Given the description of an element on the screen output the (x, y) to click on. 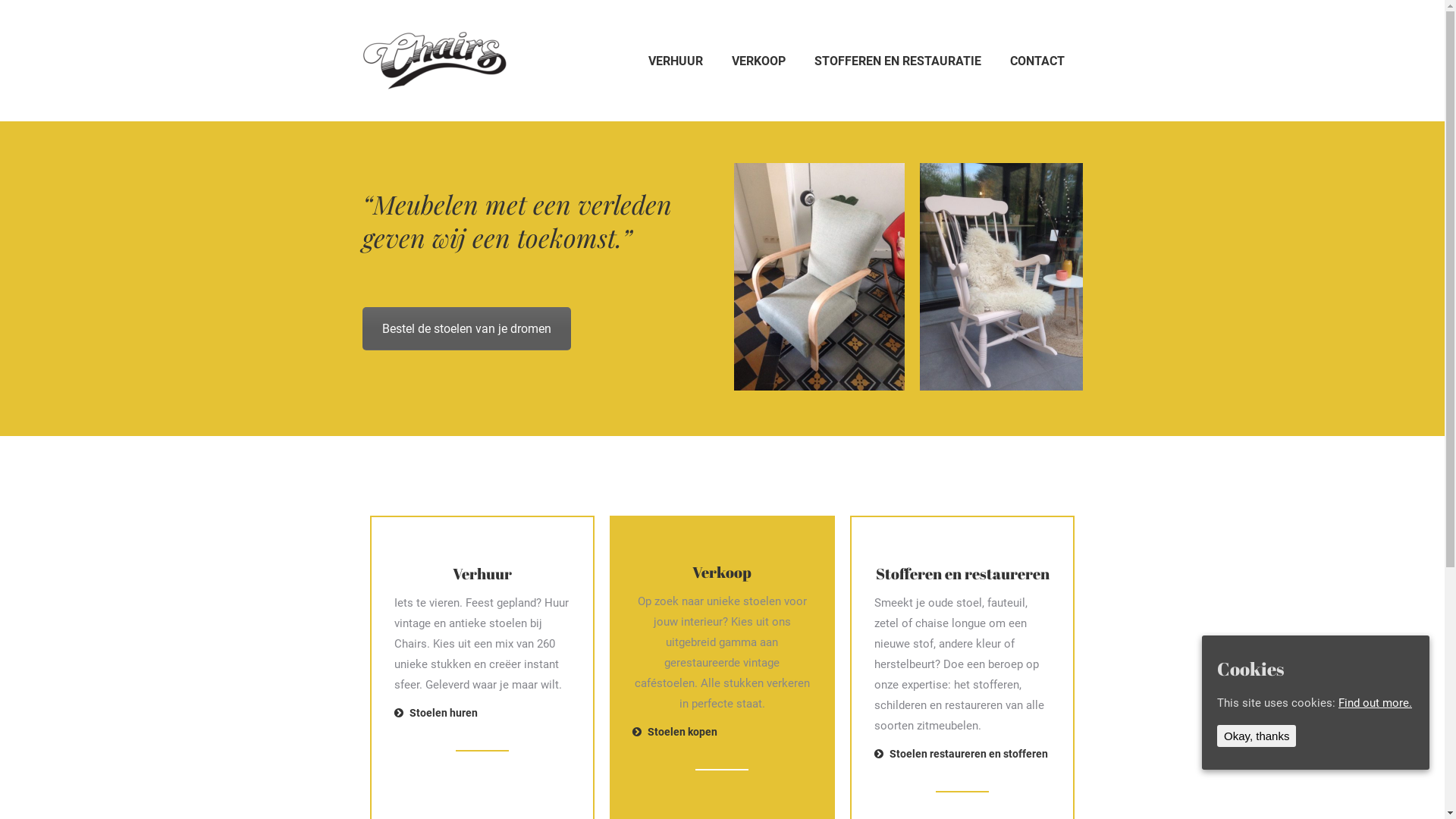
VERKOOP Element type: text (757, 60)
stoel virginie 3 Element type: hover (1004, 276)
Stoelen restaureren en stofferen Element type: text (961, 753)
Zetel Polly Element type: hover (819, 276)
Stoelen kopen Element type: text (674, 731)
STOFFEREN EN RESTAURATIE Element type: text (897, 60)
Stoelen huren Element type: text (435, 712)
CONTACT Element type: text (1037, 60)
VERHUUR Element type: text (674, 60)
Bestel de stoelen van je dromen Element type: text (466, 328)
Okay, thanks Element type: text (1256, 735)
Find out more. Element type: text (1375, 702)
